Given the description of an element on the screen output the (x, y) to click on. 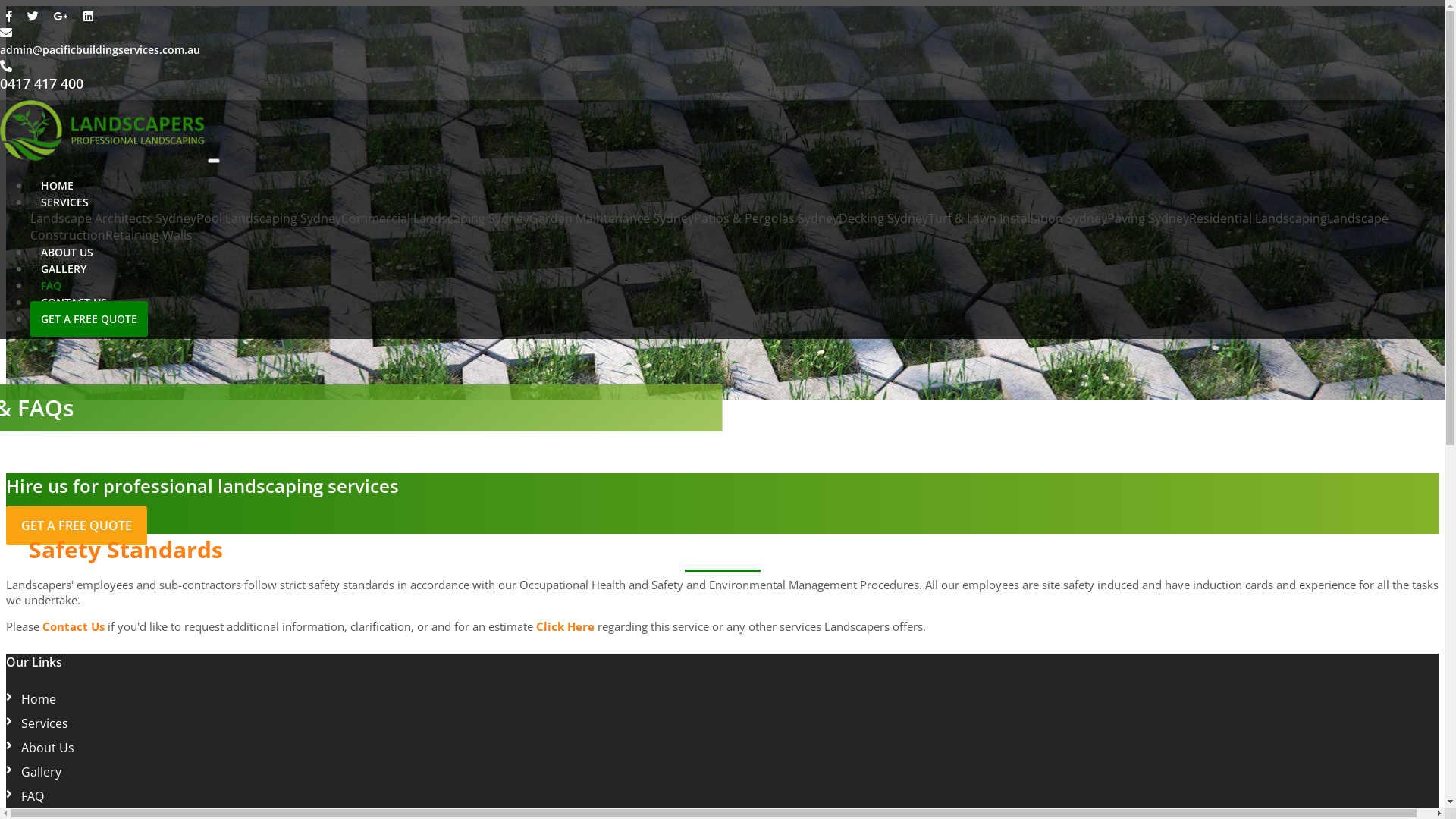
Paving Sydney Element type: text (1148, 218)
FAQ Element type: text (51, 285)
Decking Sydney Element type: text (883, 218)
GET A FREE QUOTE Element type: text (88, 318)
Retaining Walls Element type: text (148, 234)
0417 417 400 Element type: text (41, 83)
Click Here Element type: text (565, 625)
Pool Landscaping Sydney Element type: text (268, 218)
Commercial Landscaping Sydney Element type: text (435, 218)
ABOUT US Element type: text (66, 251)
Services Element type: text (44, 723)
Residential Landscaping Element type: text (1258, 218)
GALLERY Element type: text (63, 268)
Patios & Pergolas Sydney Element type: text (765, 218)
Landscape Architects Sydney Element type: text (113, 218)
Home Element type: text (38, 698)
Turf & Lawn Installation Sydney Element type: text (1017, 218)
Gallery Element type: text (41, 771)
Garden Maintenance Sydney Element type: text (611, 218)
admin@pacificbuildingservices.com.au Element type: text (100, 48)
Landscape Construction Element type: text (709, 226)
GET A FREE QUOTE Element type: text (76, 525)
HOME Element type: text (57, 185)
SERVICES Element type: text (64, 201)
FAQ Element type: text (32, 795)
CONTACT US Element type: text (73, 302)
About Us Element type: text (47, 747)
Contact Us Element type: text (73, 625)
